Given the description of an element on the screen output the (x, y) to click on. 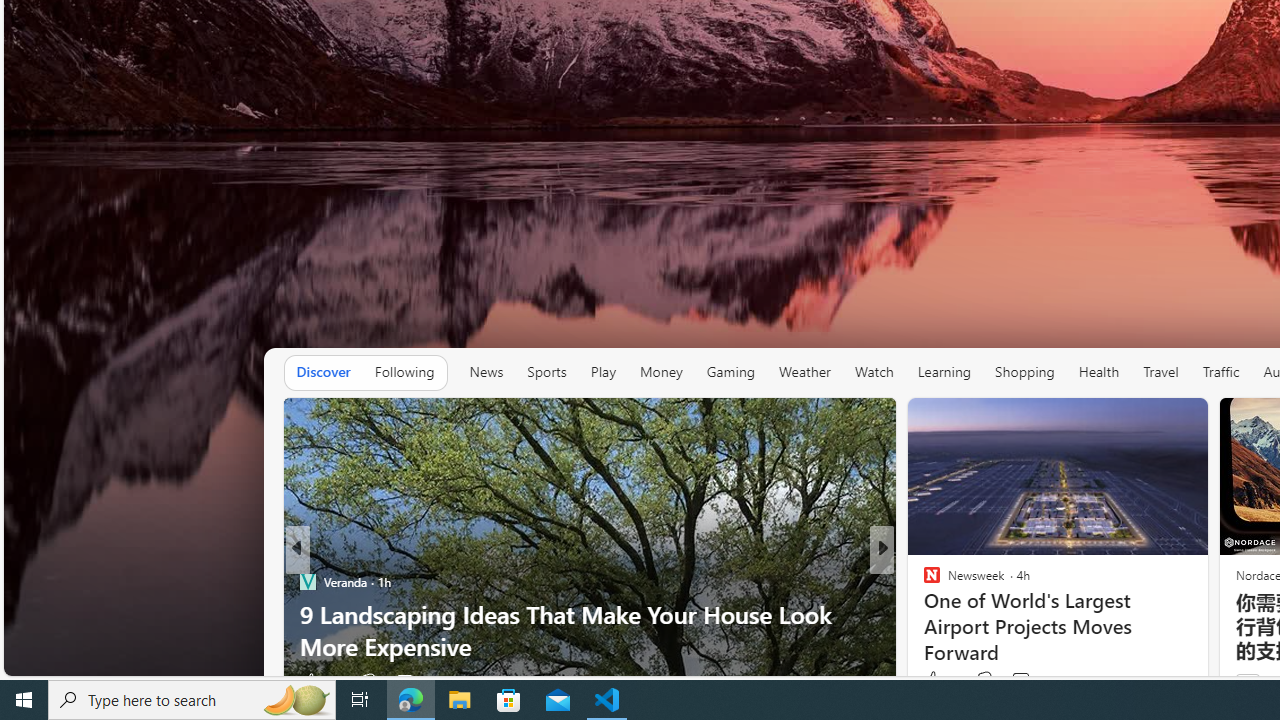
The Independent (923, 581)
View comments 5 Comment (1019, 681)
Variety (923, 581)
